Given the description of an element on the screen output the (x, y) to click on. 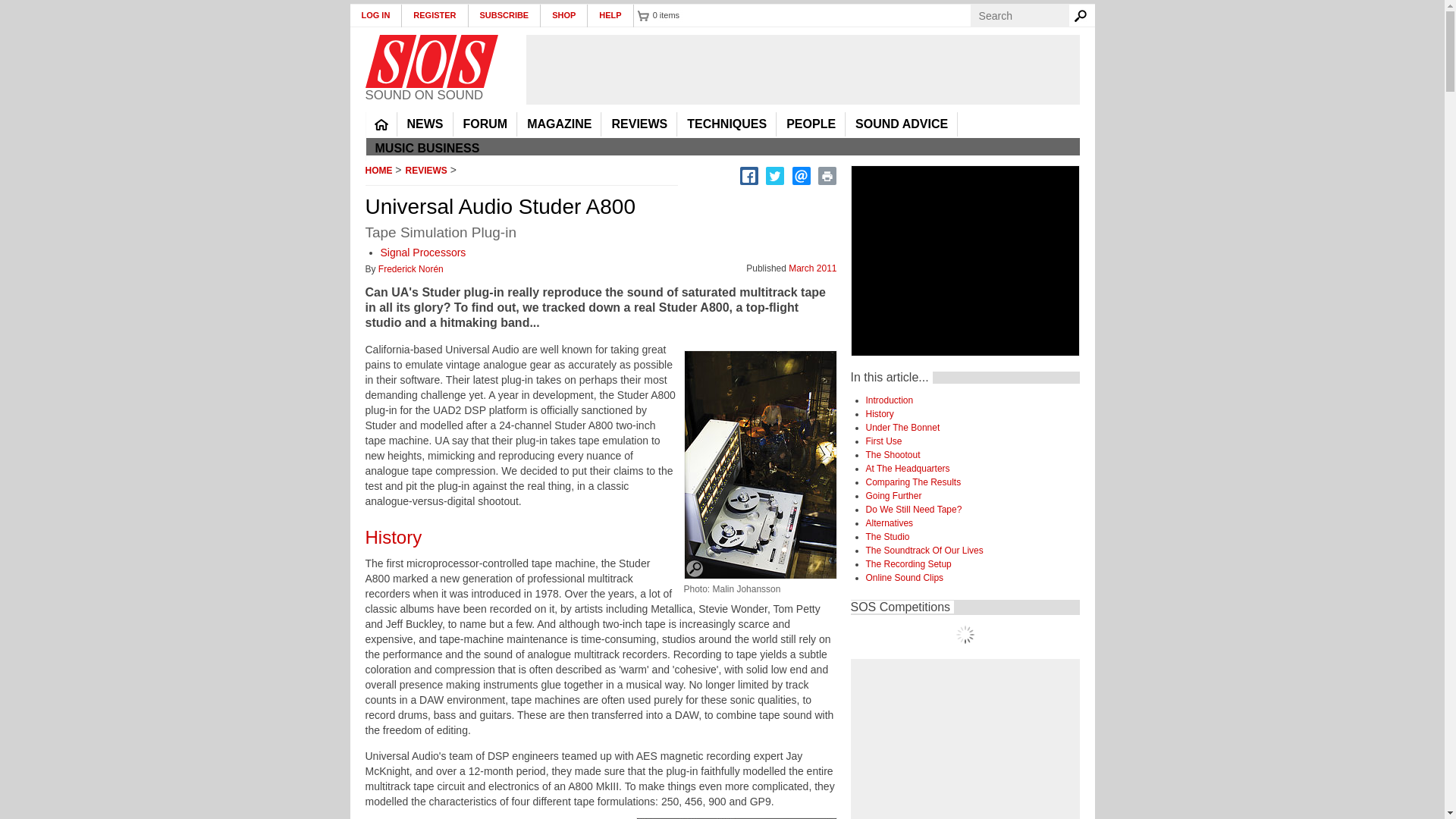
SHOP (564, 15)
REGISTER (434, 15)
NEWS (424, 124)
MAGAZINE (558, 124)
Search (1082, 15)
Home (431, 61)
HELP (610, 15)
HOME (380, 124)
LOG IN (376, 15)
Search (1082, 15)
FORUM (484, 124)
SUBSCRIBE (504, 15)
